Given the description of an element on the screen output the (x, y) to click on. 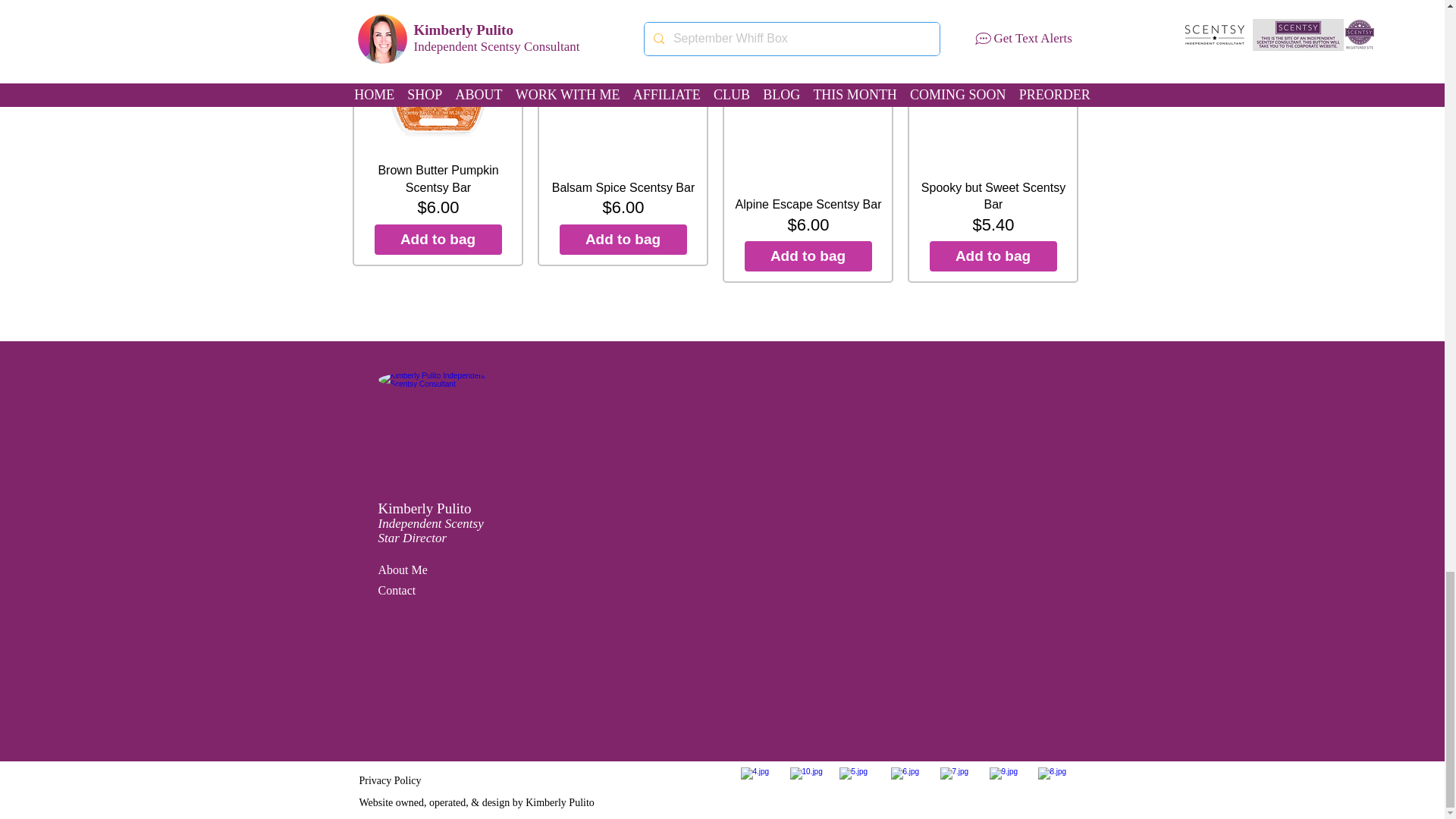
Add to bag (808, 255)
Add to bag (438, 239)
Brown Butter Pumpkin Scentsy Bar (438, 74)
Alpine Escape Scentsy Bar (807, 104)
Balsam Spice Scentsy Bar (623, 88)
Add to bag (623, 239)
